Given the description of an element on the screen output the (x, y) to click on. 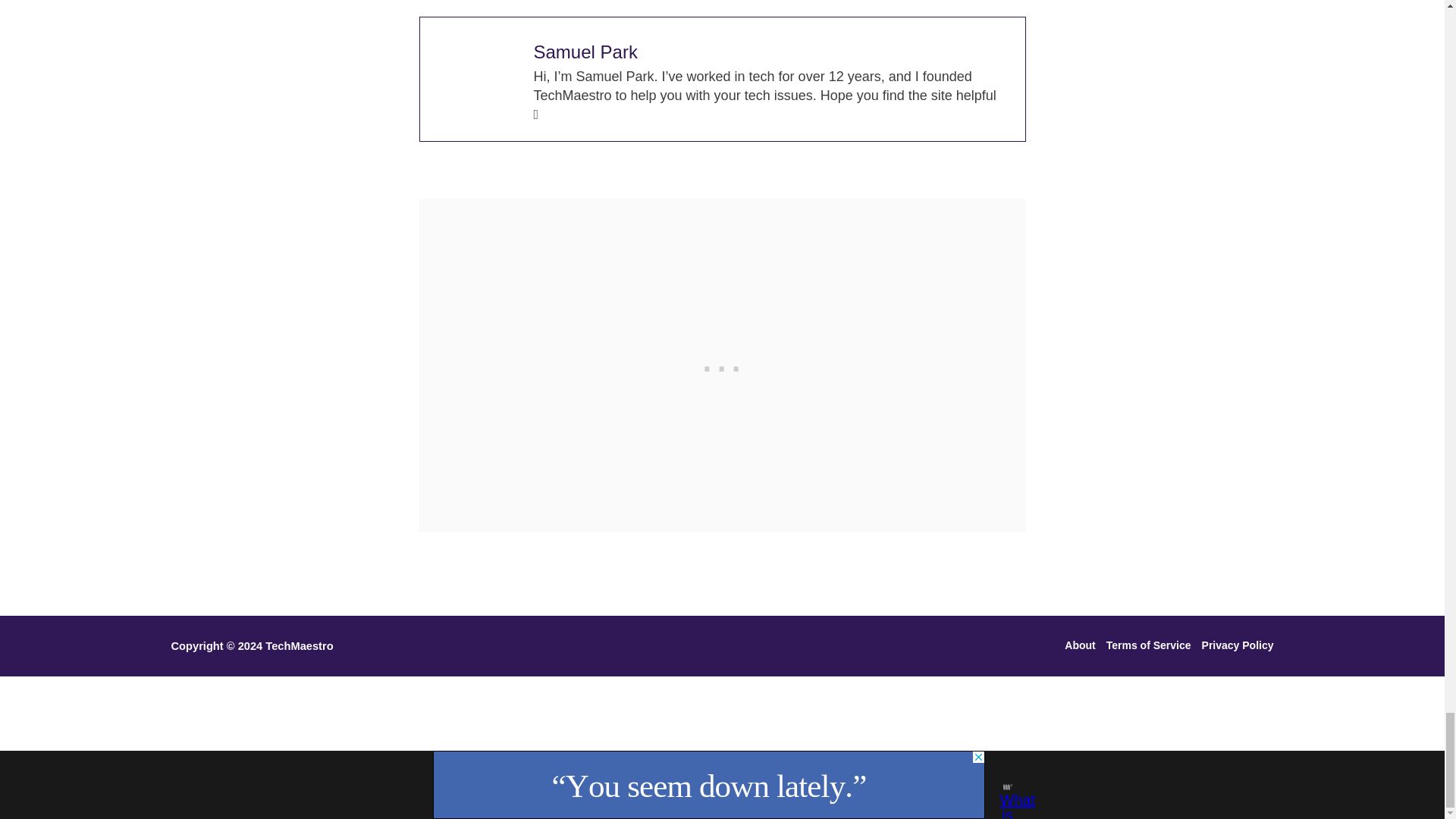
Samuel Park (585, 51)
About (1082, 646)
Terms of Service (1148, 646)
Privacy Policy (1235, 646)
